Given the description of an element on the screen output the (x, y) to click on. 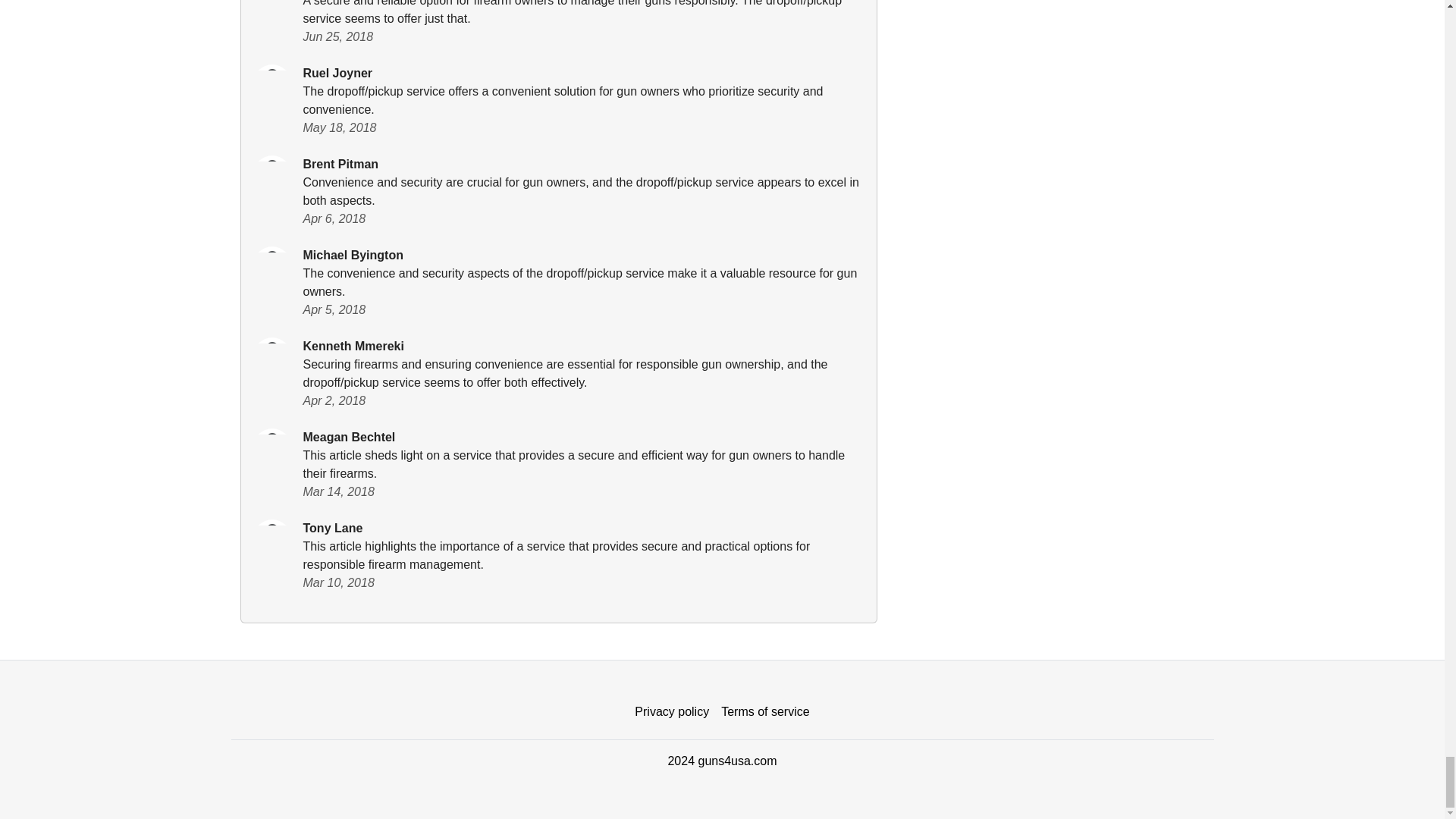
Terms of service (764, 711)
Privacy policy (671, 711)
